Given the description of an element on the screen output the (x, y) to click on. 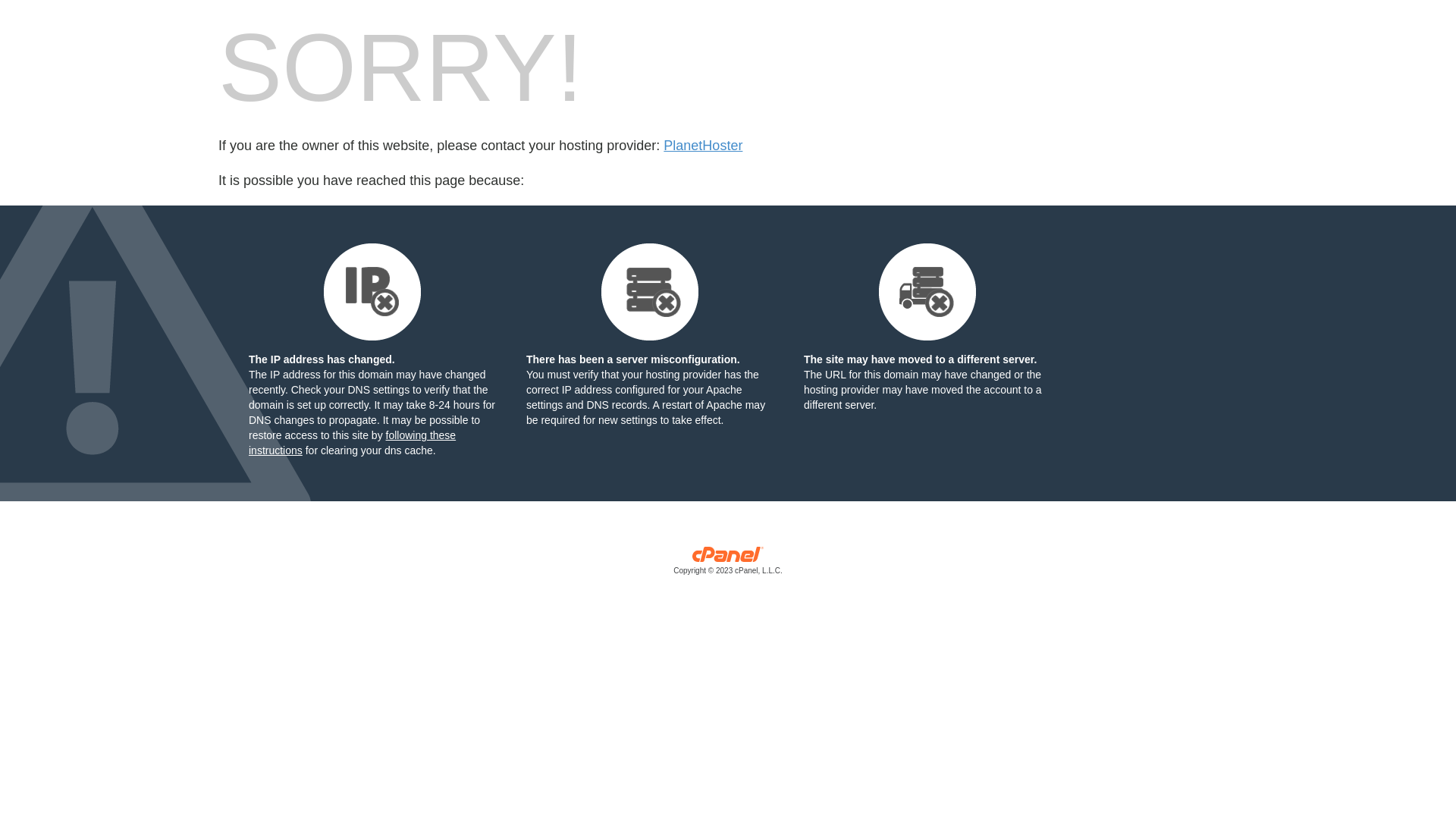
following these instructions Element type: text (351, 442)
PlanetHoster Element type: text (702, 145)
